Given the description of an element on the screen output the (x, y) to click on. 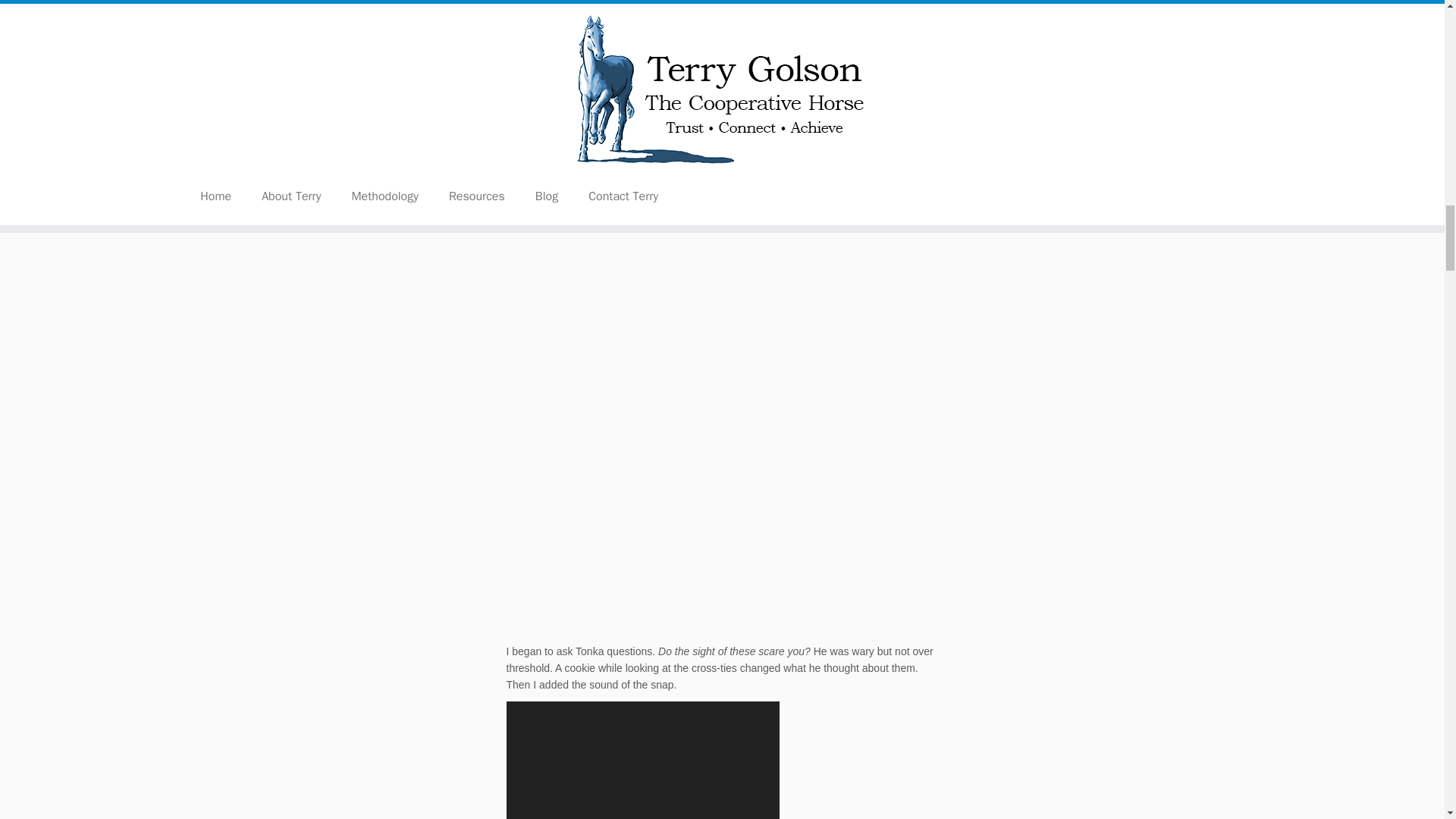
tack store (911, 160)
